Given the description of an element on the screen output the (x, y) to click on. 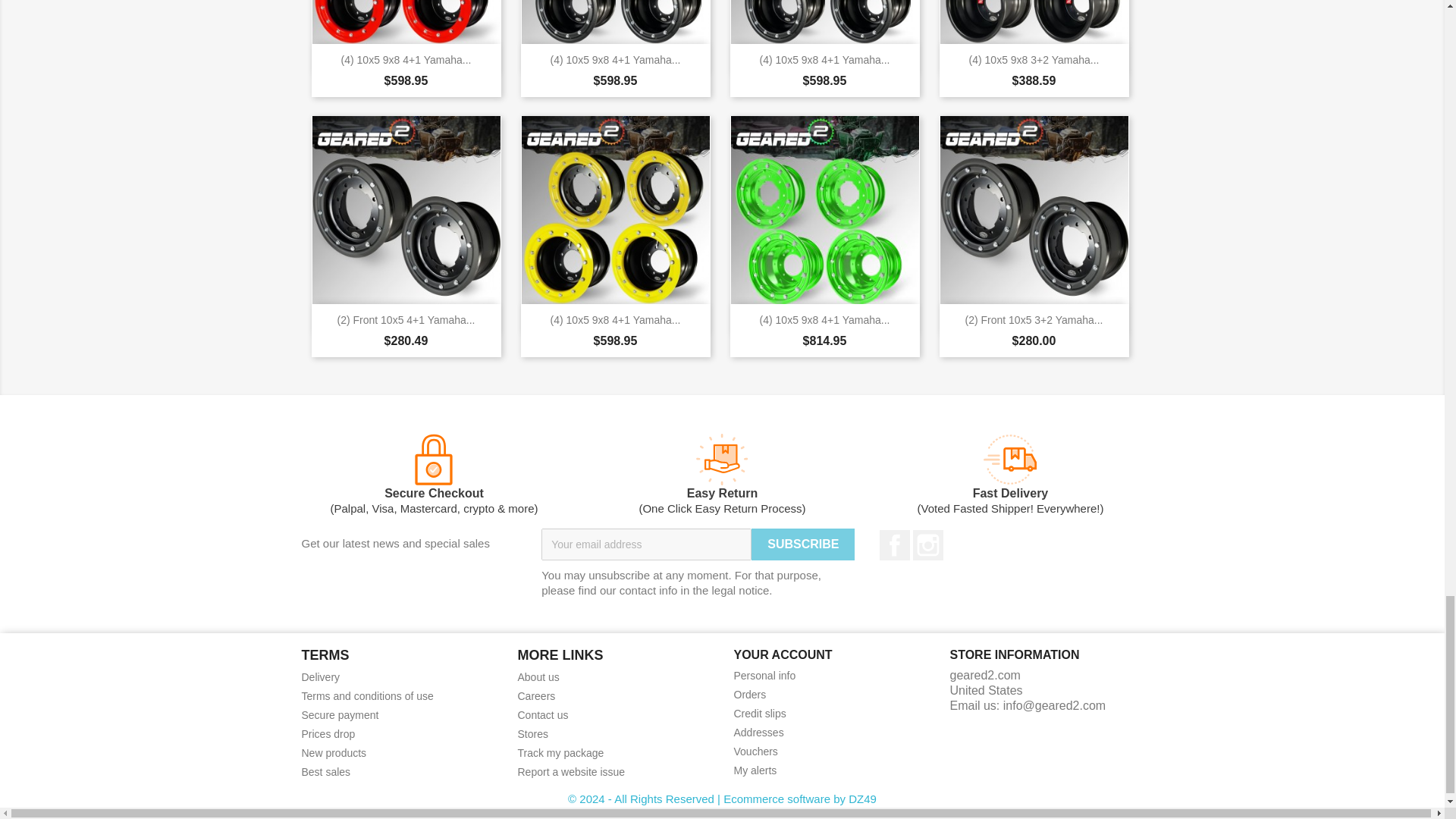
Our special products (328, 734)
Subscribe (802, 544)
Our secure payment method (339, 715)
Learn more about us (537, 676)
Our best sales (325, 771)
Our terms and conditions of use (367, 695)
Our new products (333, 752)
Our terms and conditions of delivery (320, 676)
Use our form to contact us (541, 715)
